Given the description of an element on the screen output the (x, y) to click on. 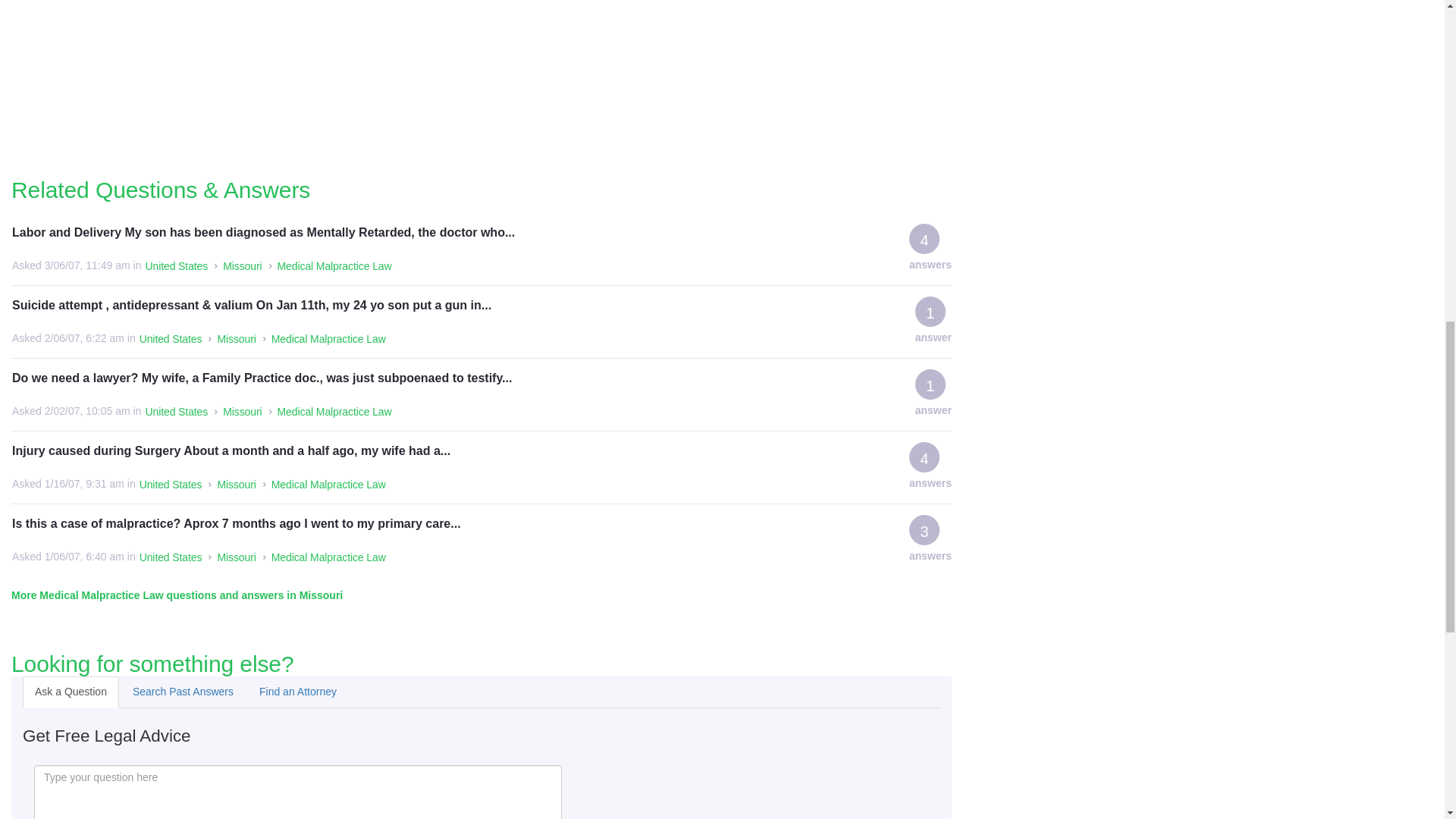
United States (170, 339)
Missouri (236, 339)
Missouri (242, 266)
United States (170, 485)
United States (176, 412)
Medical Malpractice Law (334, 266)
Missouri (242, 412)
